Given the description of an element on the screen output the (x, y) to click on. 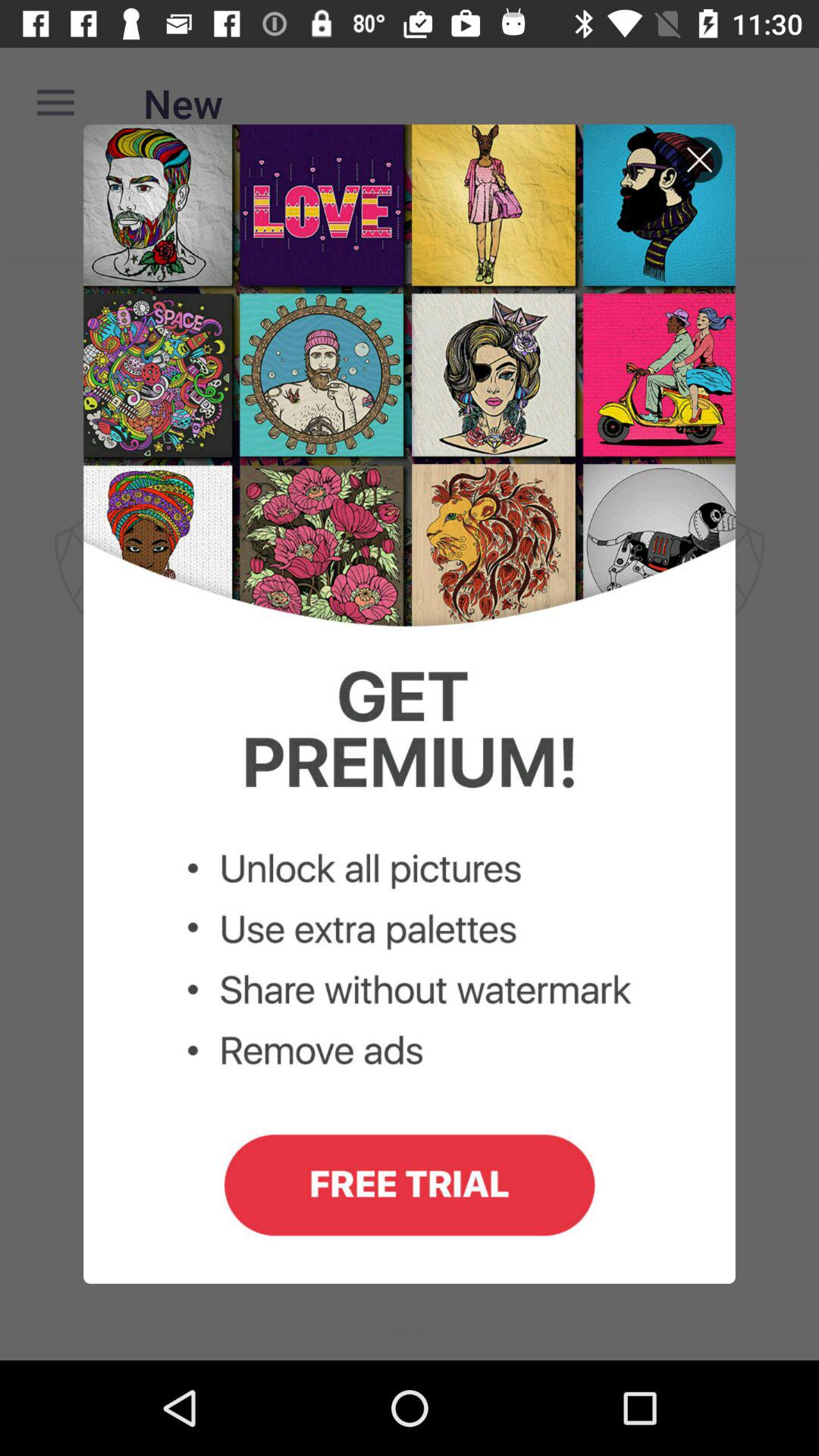
get free trial (409, 703)
